Given the description of an element on the screen output the (x, y) to click on. 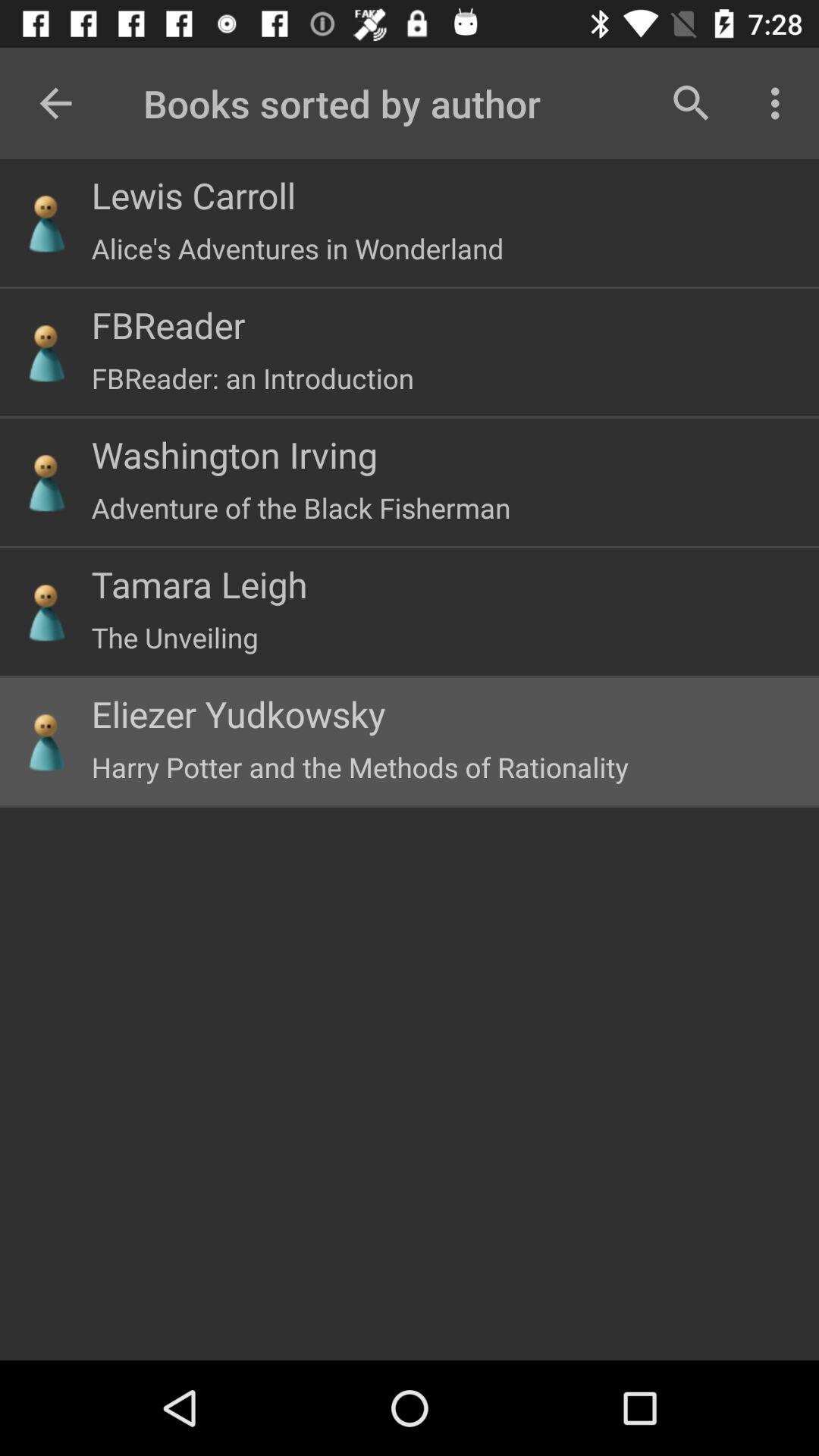
jump until the tamara leigh (199, 584)
